Given the description of an element on the screen output the (x, y) to click on. 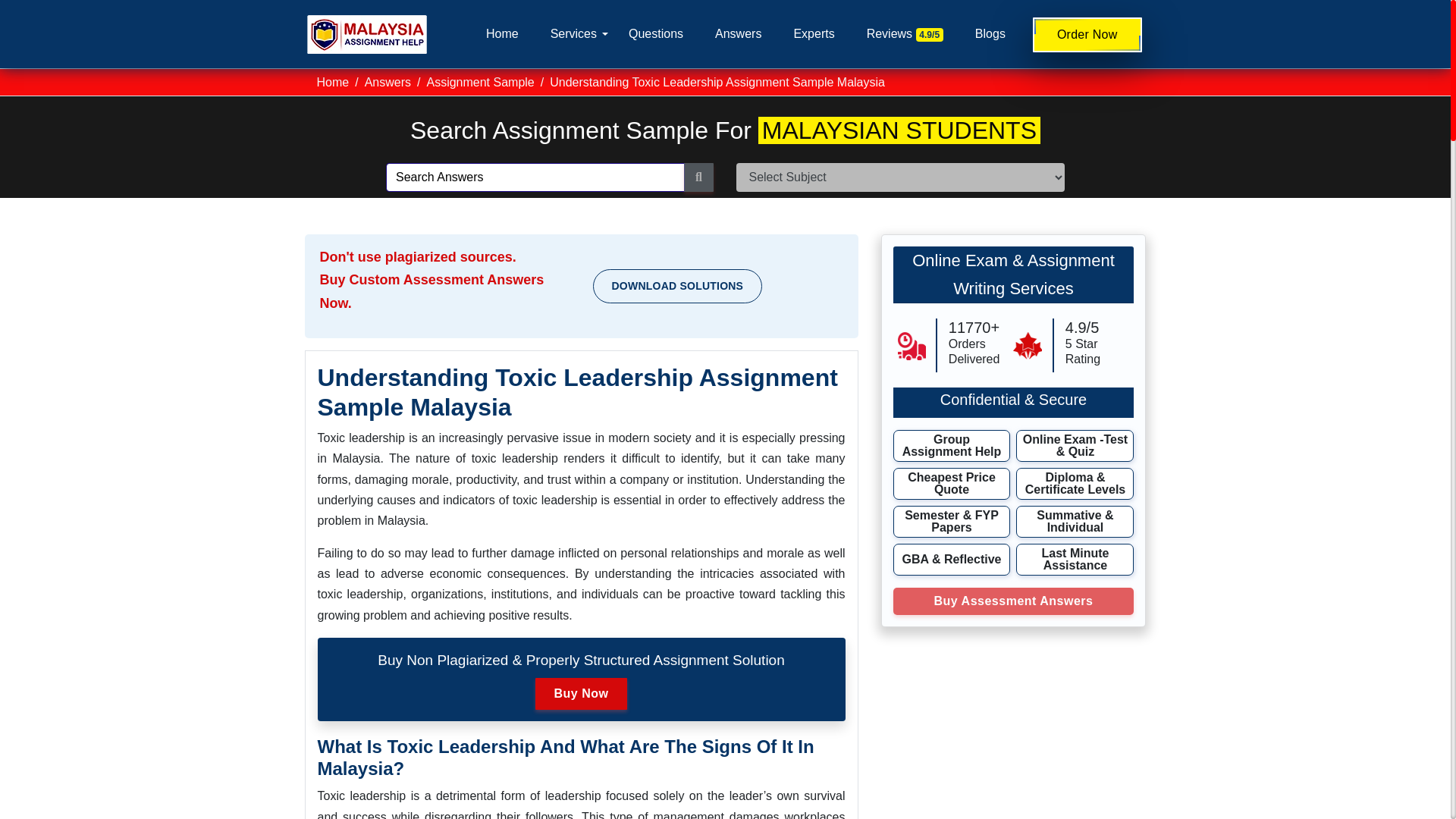
Experts (813, 33)
Order Now (1086, 34)
Home (501, 33)
Questions (655, 33)
Home (333, 82)
Answers (738, 33)
Buy Now (581, 694)
Assignment Sample (480, 82)
Services (573, 33)
Answers (387, 82)
Blogs (989, 33)
